Given the description of an element on the screen output the (x, y) to click on. 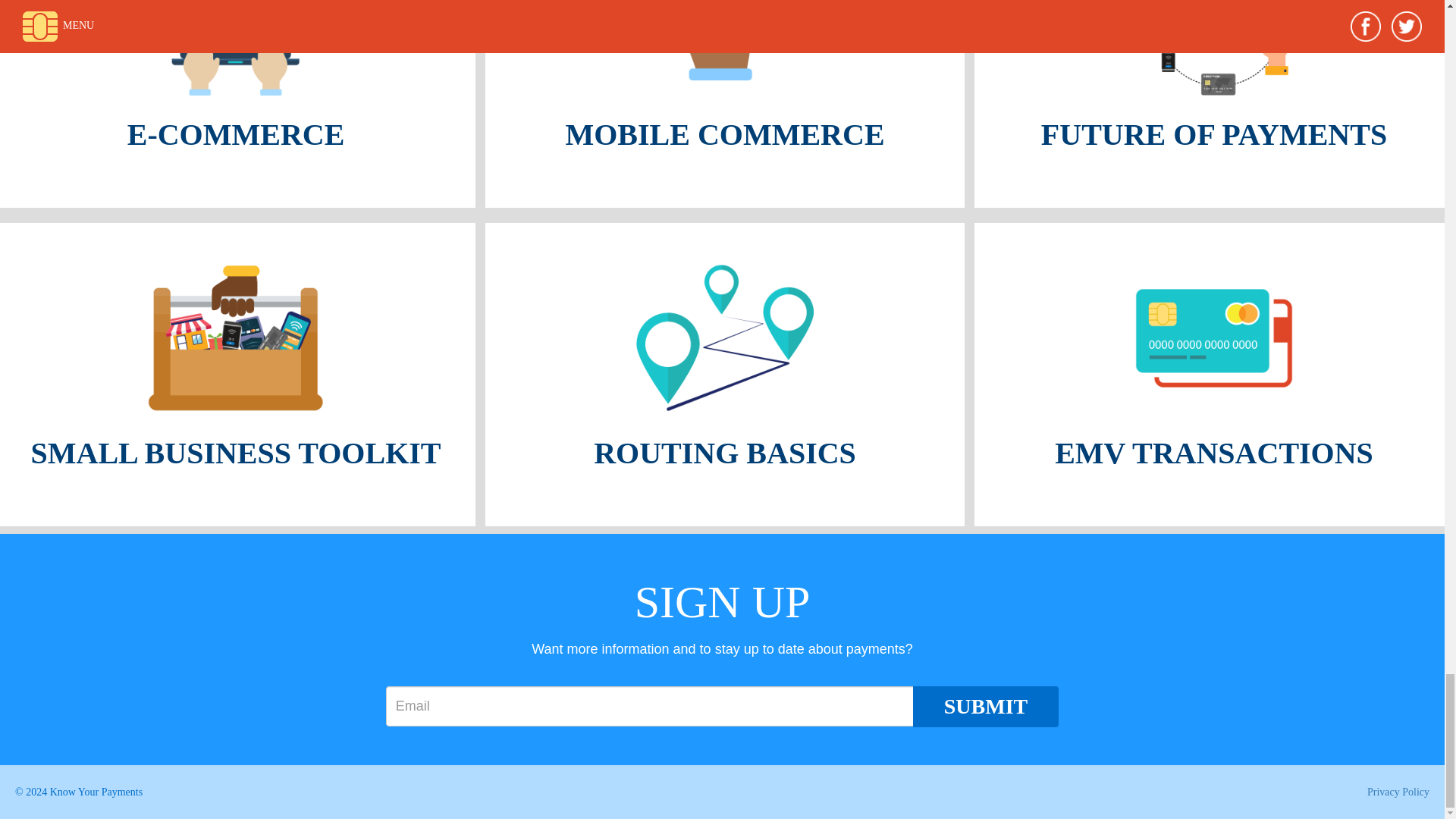
MOBILE COMMERCE (723, 104)
FUTURE OF PAYMENTS (1213, 104)
E-COMMERCE (238, 104)
